Given the description of an element on the screen output the (x, y) to click on. 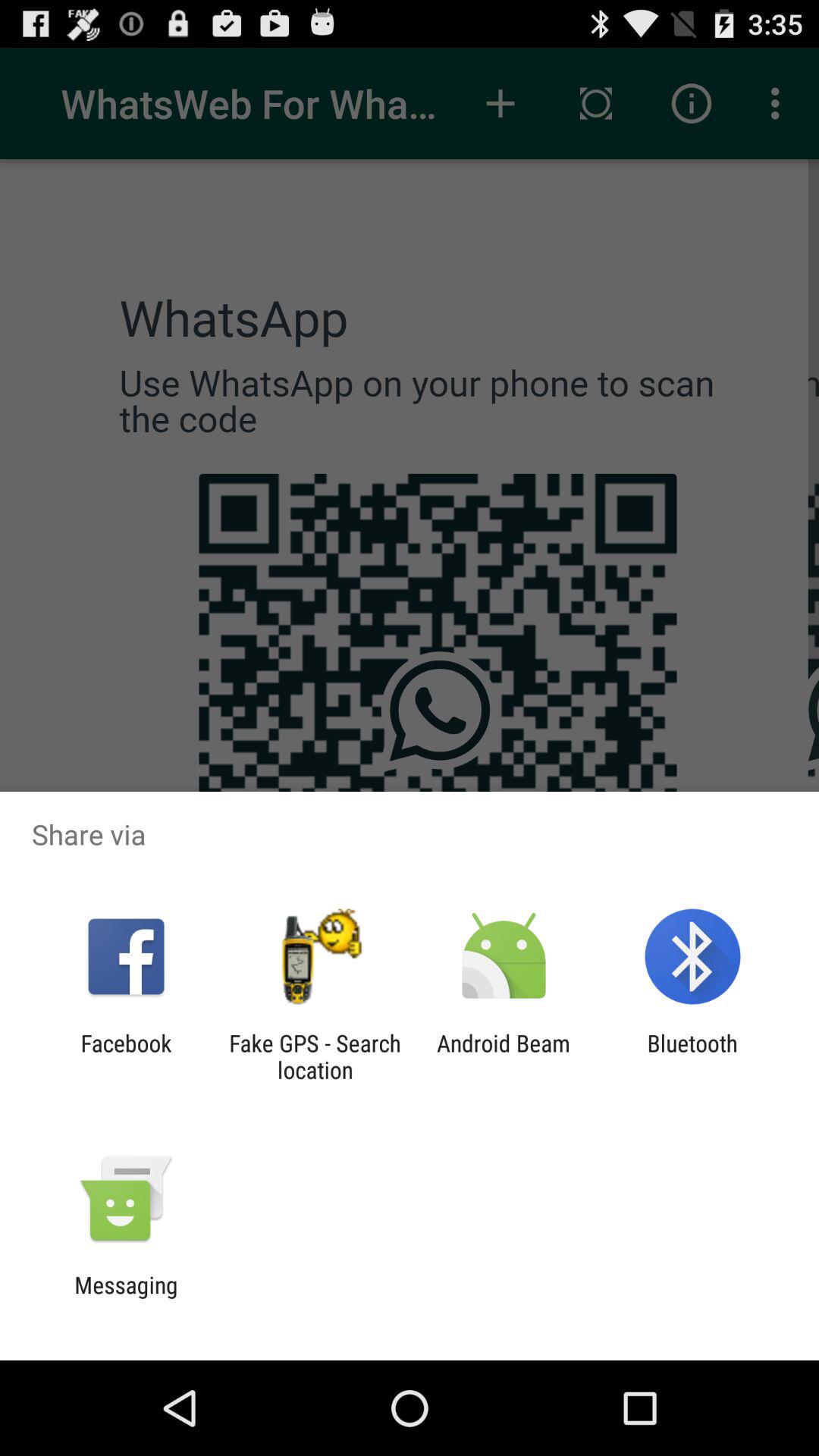
flip until the bluetooth (692, 1056)
